Given the description of an element on the screen output the (x, y) to click on. 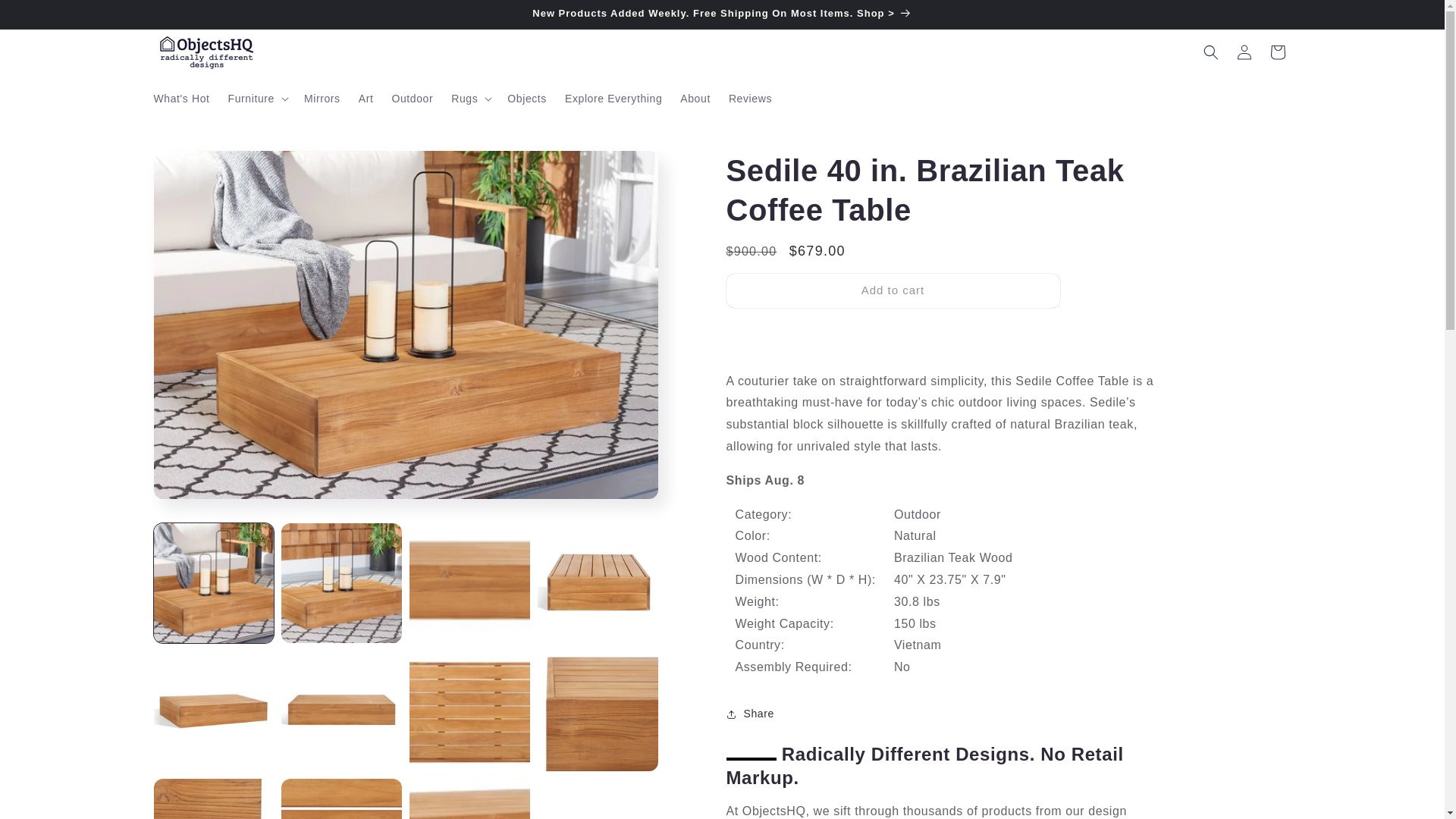
Skip to content (45, 16)
